Given the description of an element on the screen output the (x, y) to click on. 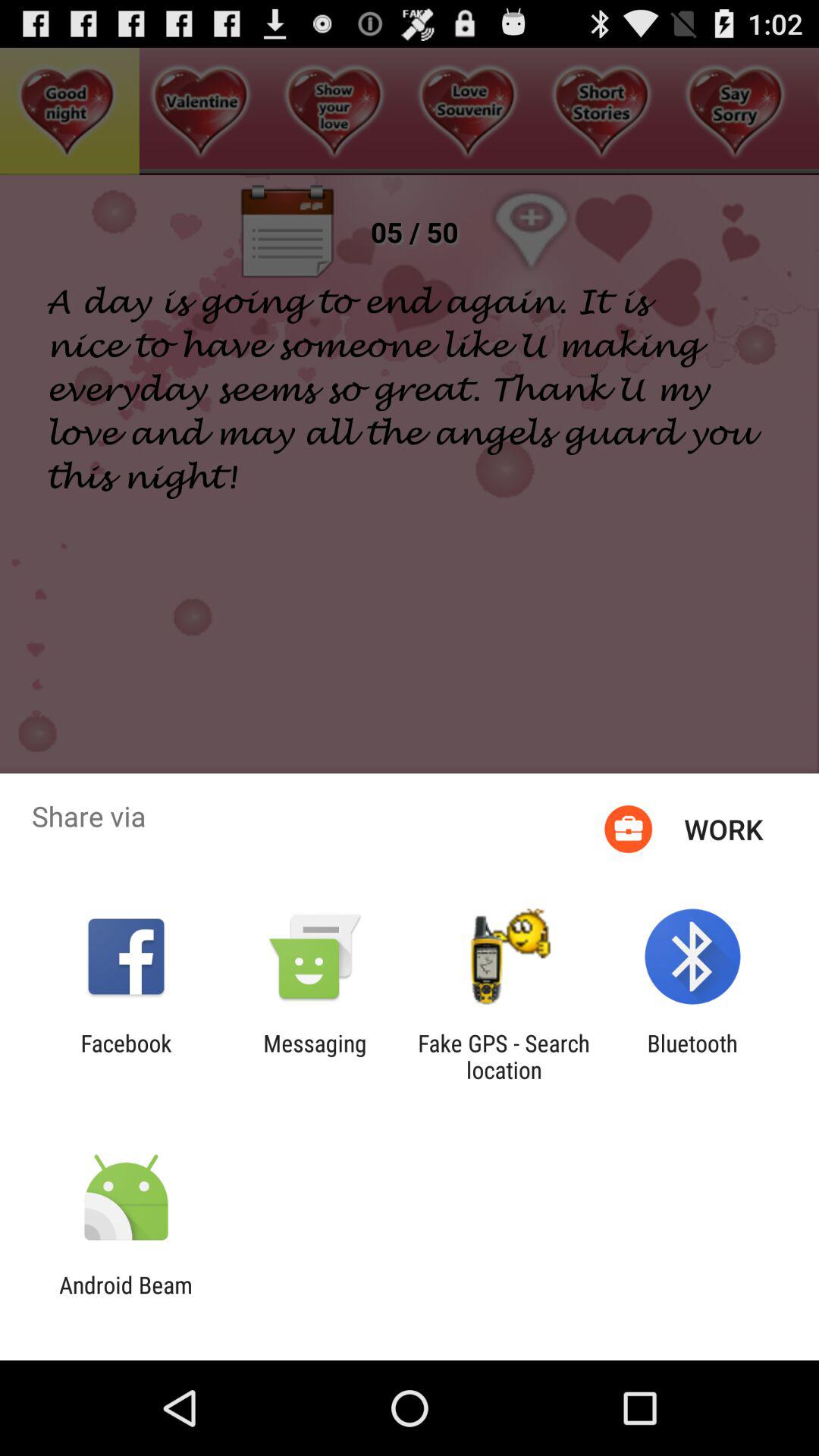
press the bluetooth icon (692, 1056)
